Given the description of an element on the screen output the (x, y) to click on. 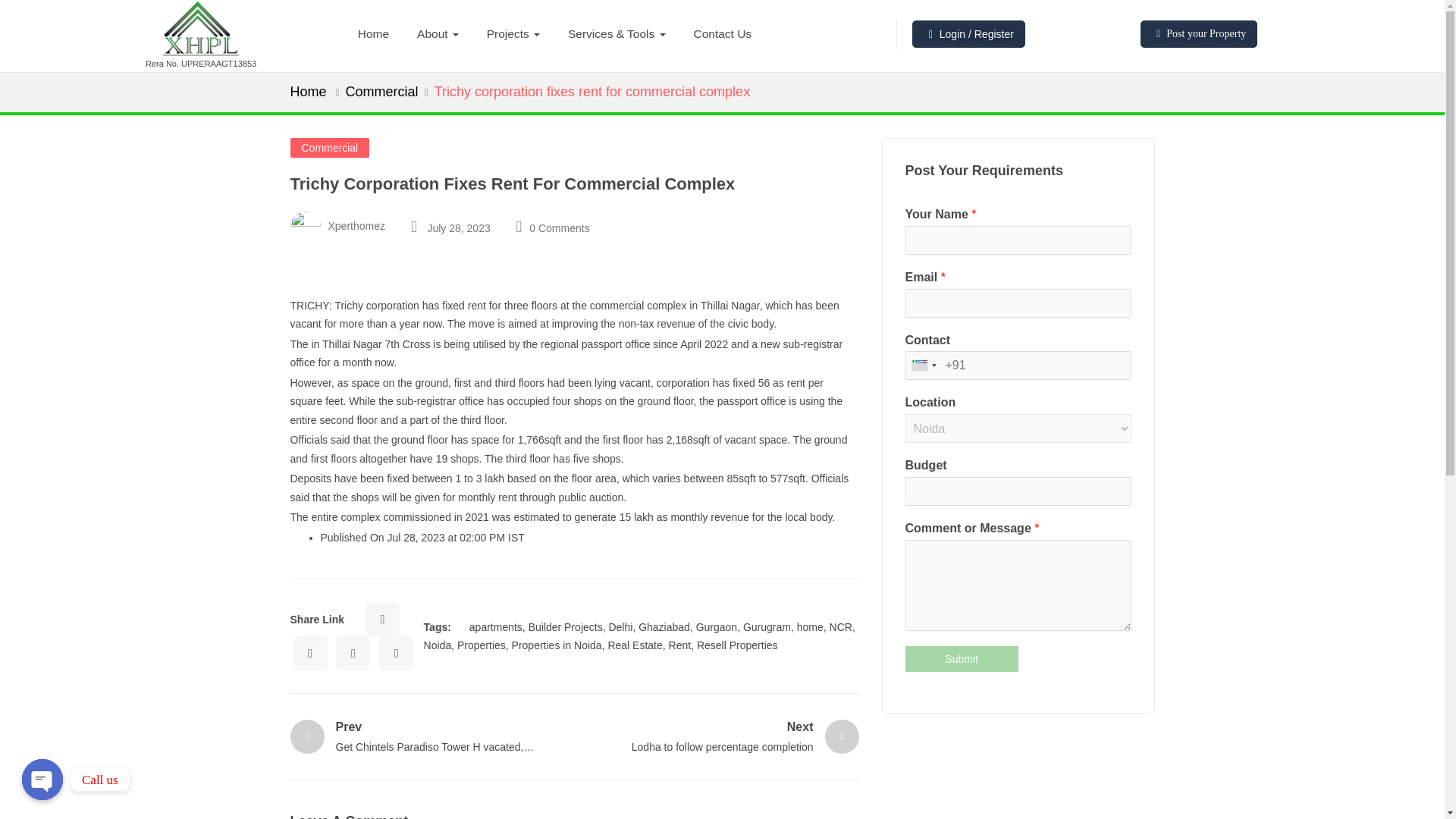
Register (993, 33)
Login (953, 33)
